Given the description of an element on the screen output the (x, y) to click on. 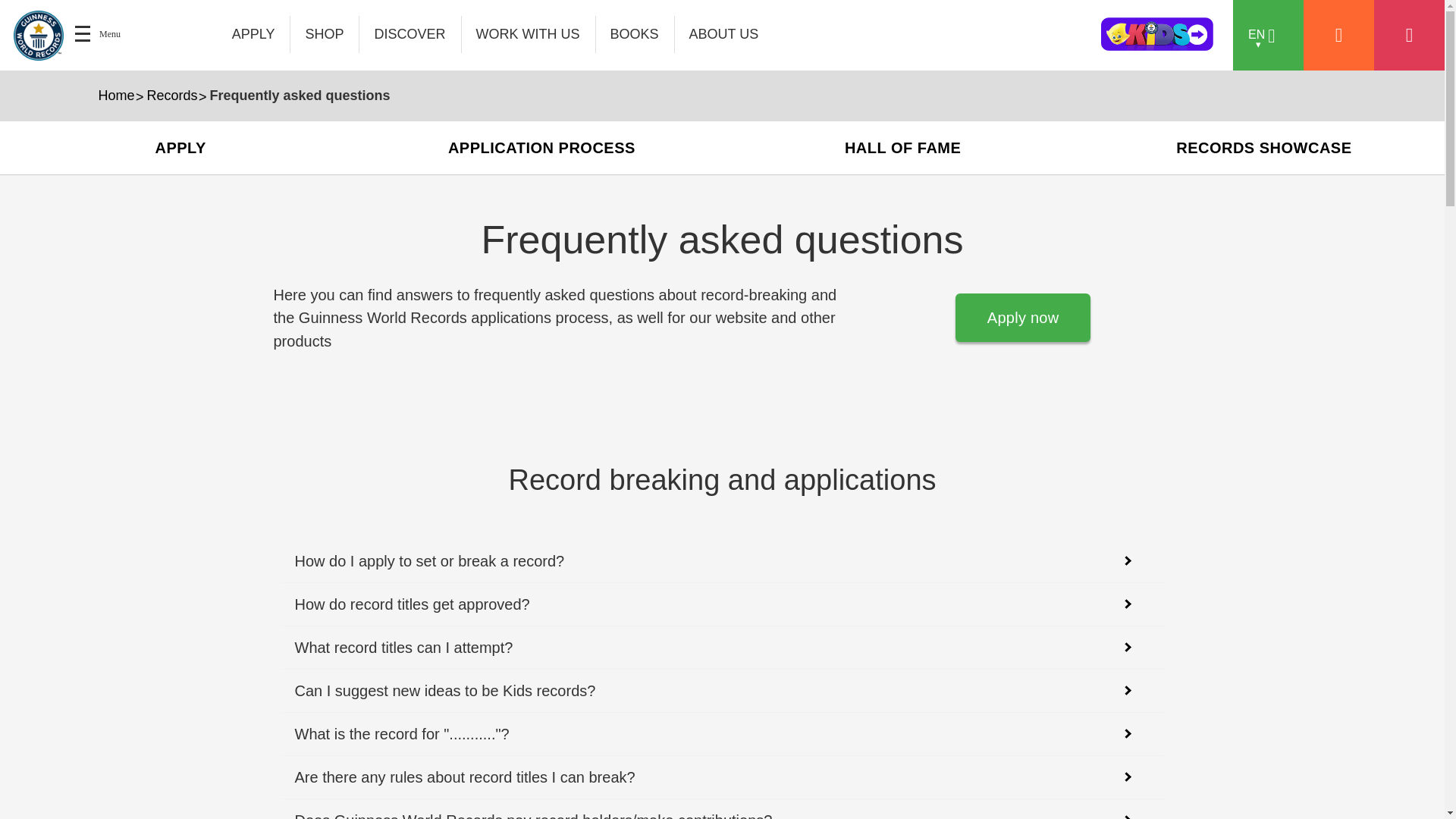
Select Language (1268, 35)
BOOKS (634, 34)
SHOP (324, 34)
APPLY (253, 34)
Submit (1031, 32)
Account (1338, 35)
ABOUT US (724, 34)
DISCOVER (409, 34)
EN (1268, 35)
WORK WITH US (528, 34)
